Given the description of an element on the screen output the (x, y) to click on. 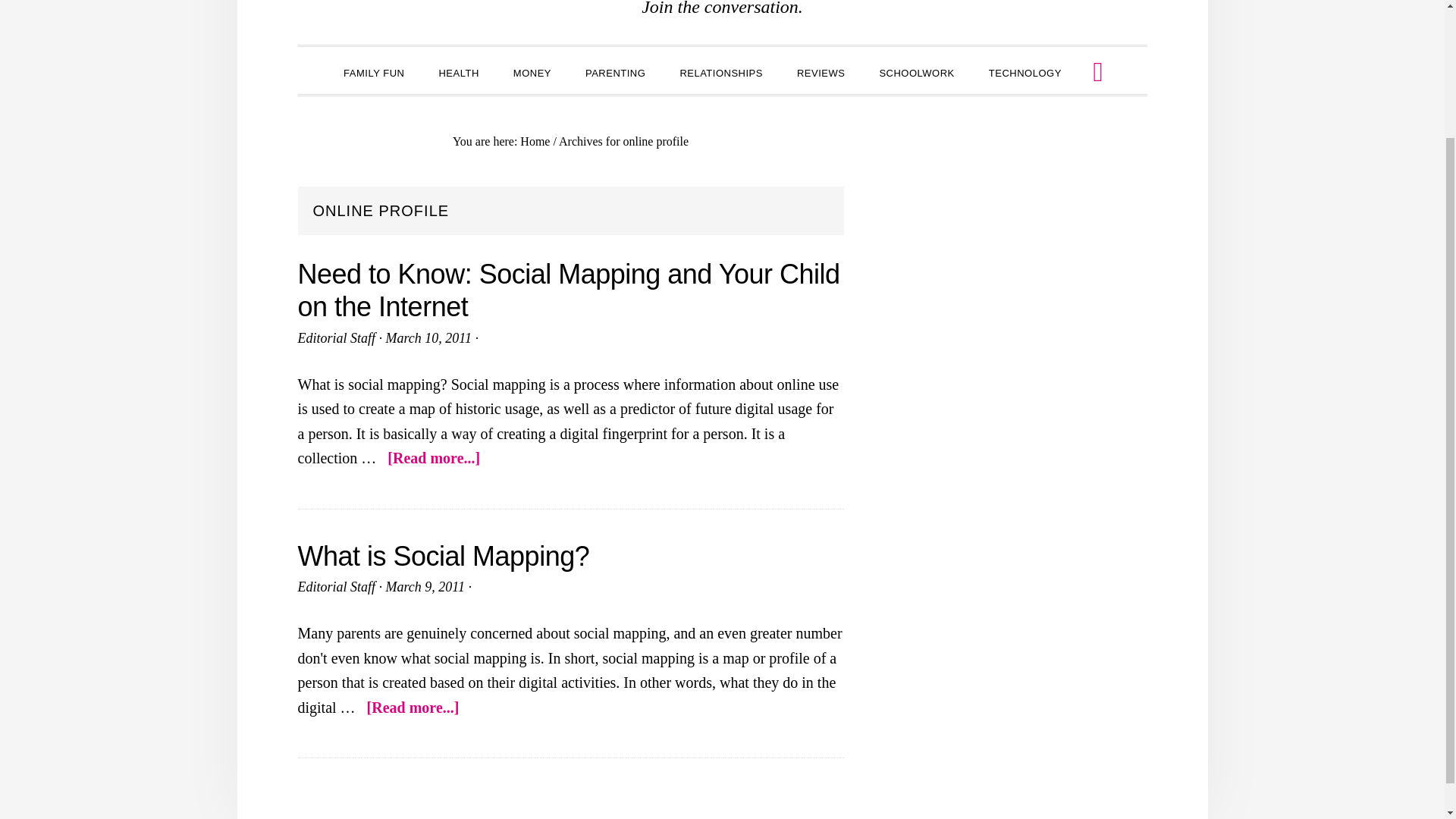
PARENTING (615, 71)
HEALTH (458, 71)
REVIEWS (820, 71)
MONEY (531, 71)
RELATIONSHIPS (720, 71)
FAMILY FUN (374, 71)
